Given the description of an element on the screen output the (x, y) to click on. 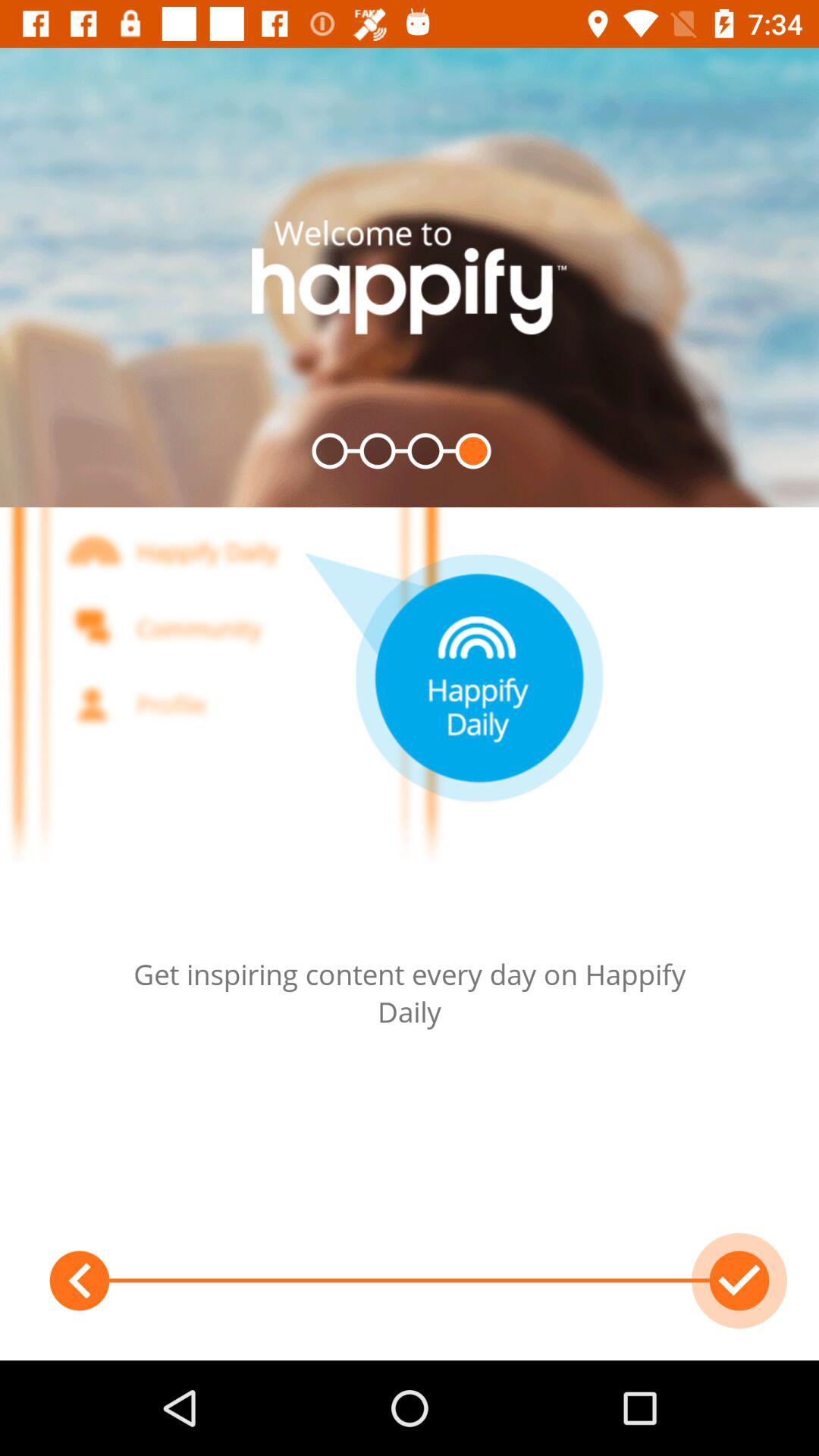
ok button (739, 1280)
